Given the description of an element on the screen output the (x, y) to click on. 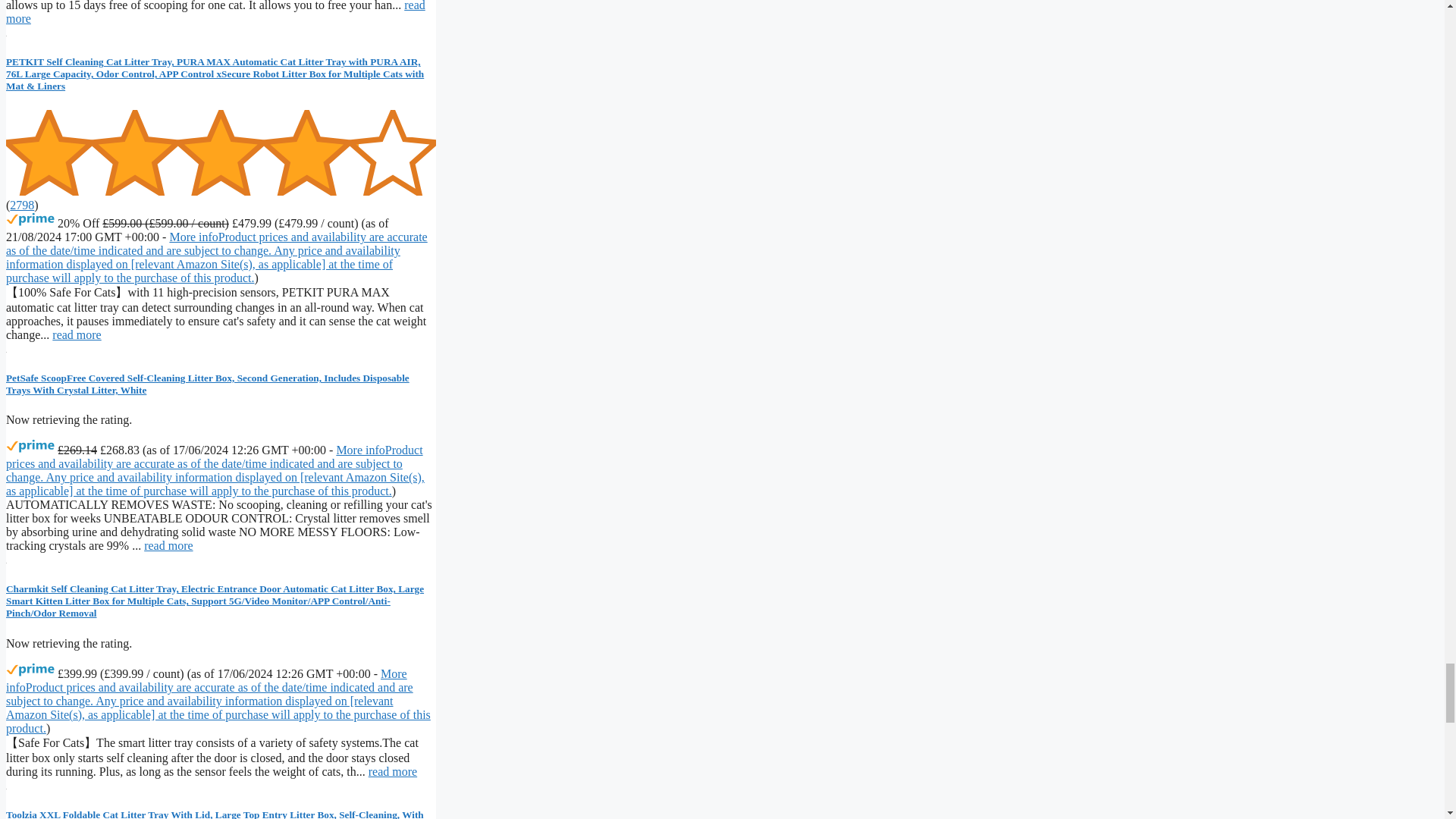
Available for Amazon Prime (30, 670)
4.1 out of 5 stars (220, 152)
Available for Amazon Prime (30, 219)
Available for Amazon Prime (30, 446)
